Given the description of an element on the screen output the (x, y) to click on. 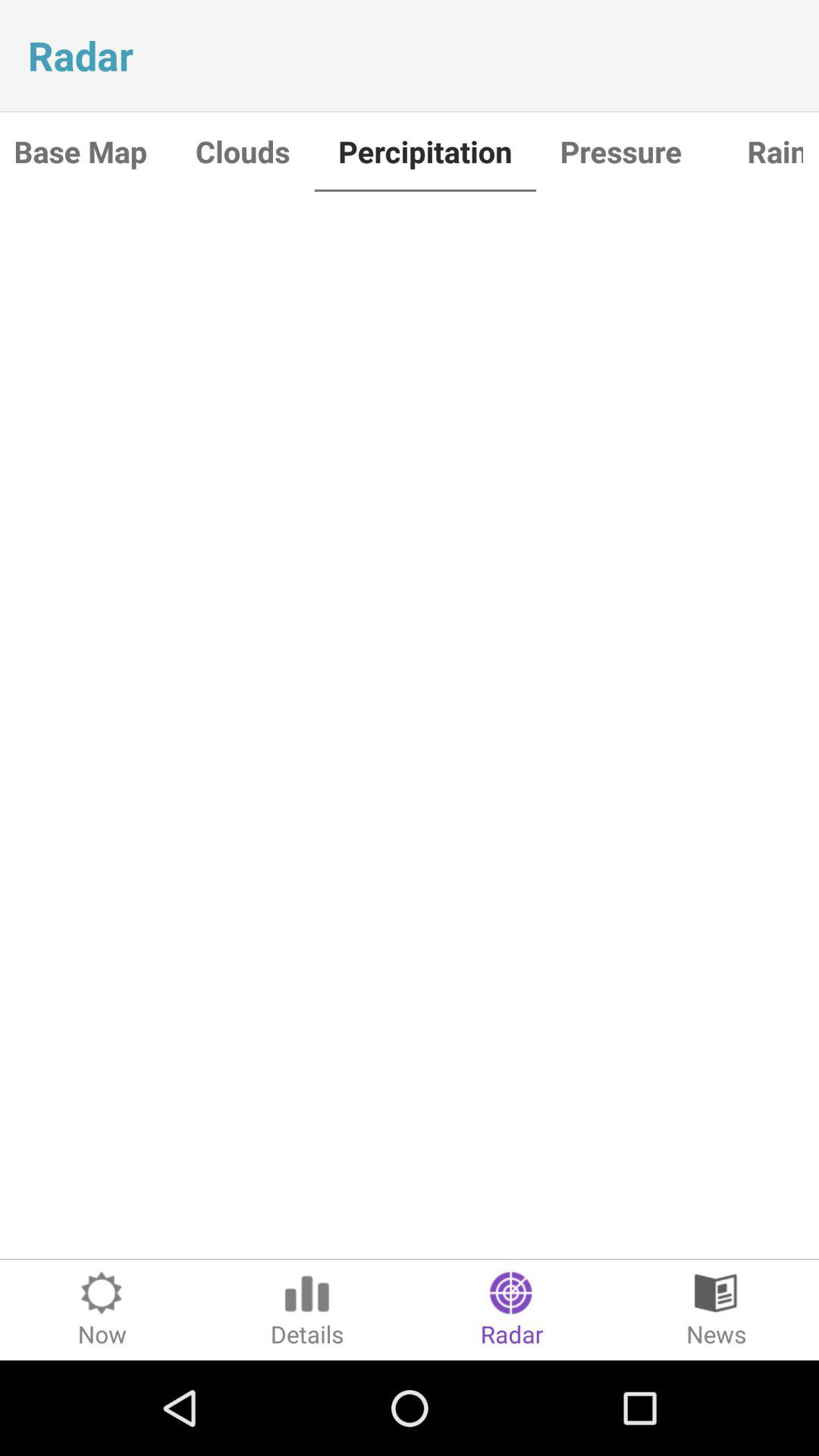
select icon next to the details item (102, 1310)
